Given the description of an element on the screen output the (x, y) to click on. 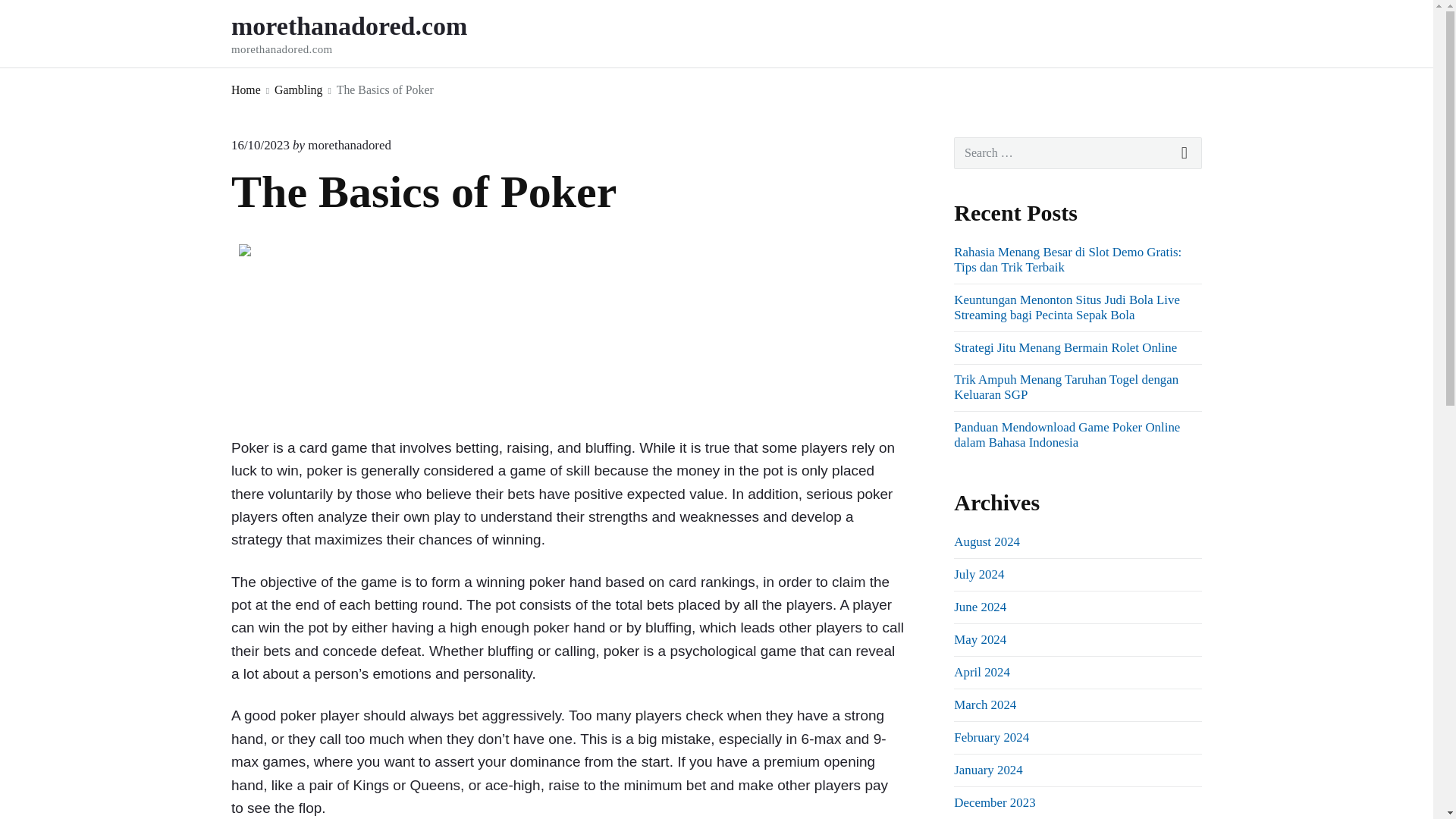
Panduan Mendownload Game Poker Online dalam Bahasa Indonesia (1066, 434)
Gambling (298, 89)
April 2024 (981, 672)
Monday, October 16, 2023, 8:04 pm (369, 33)
June 2024 (260, 145)
February 2024 (979, 606)
August 2024 (991, 737)
Home (986, 541)
